Given the description of an element on the screen output the (x, y) to click on. 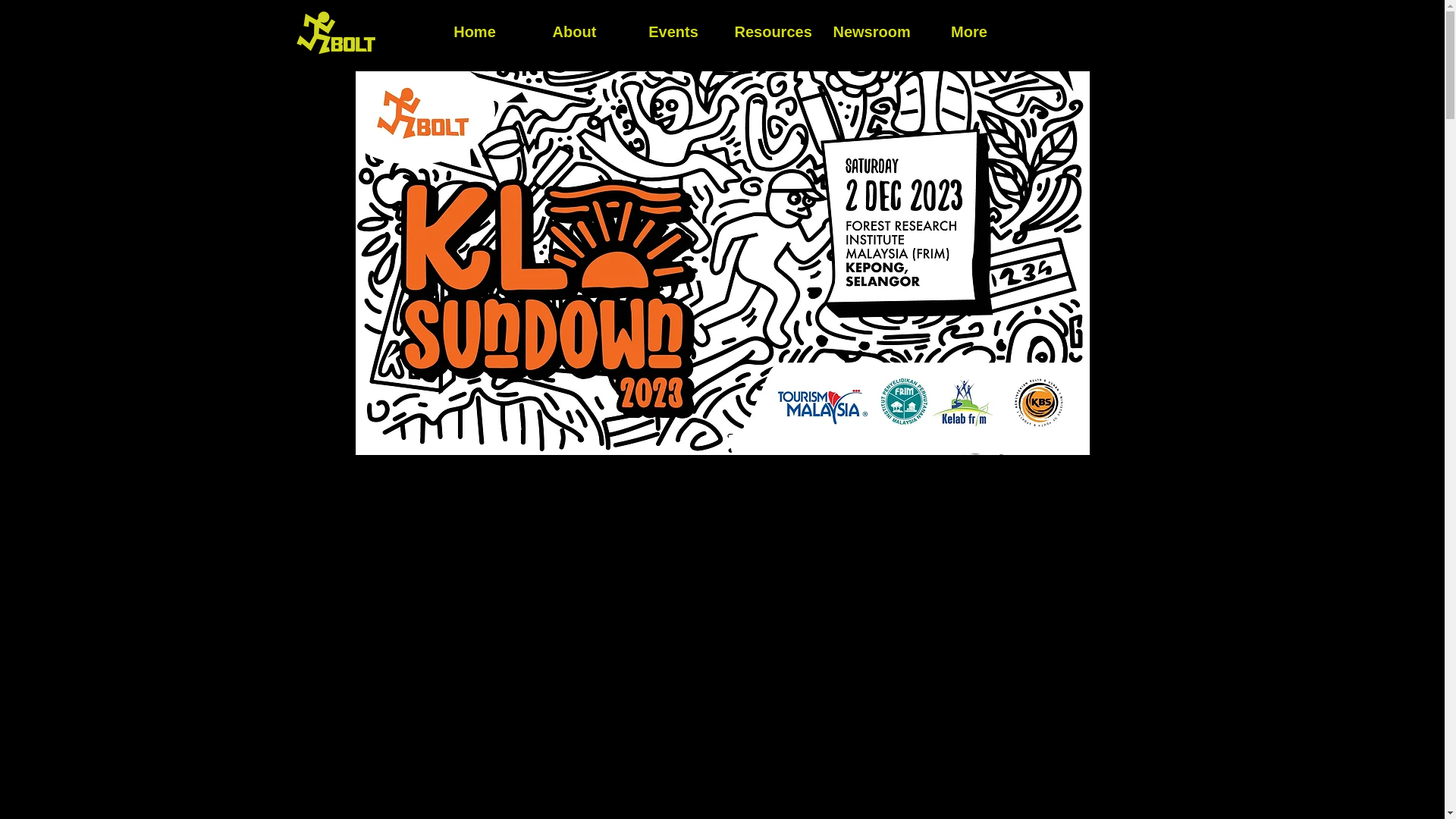
About (573, 31)
Newsroom (871, 31)
Home (474, 31)
